Given the description of an element on the screen output the (x, y) to click on. 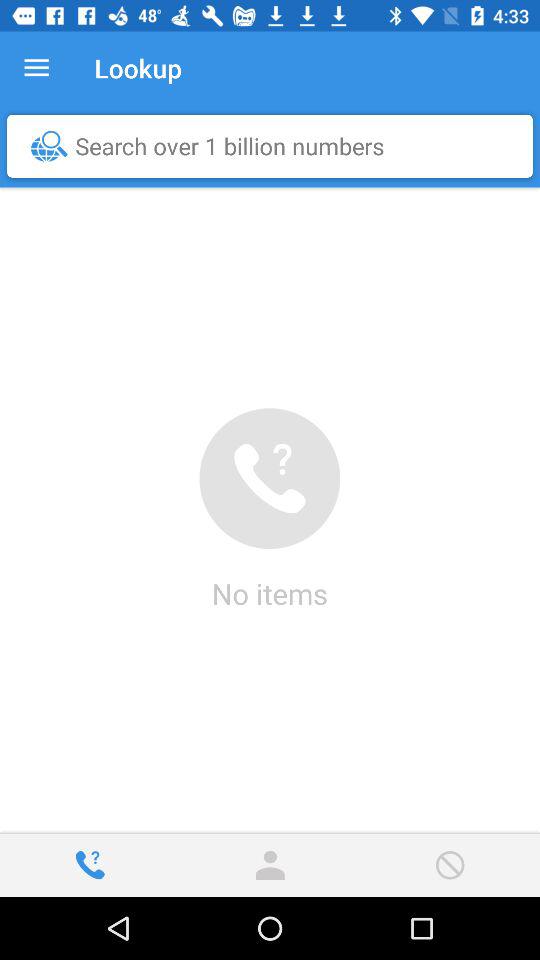
turn on search over 1 item (275, 146)
